Given the description of an element on the screen output the (x, y) to click on. 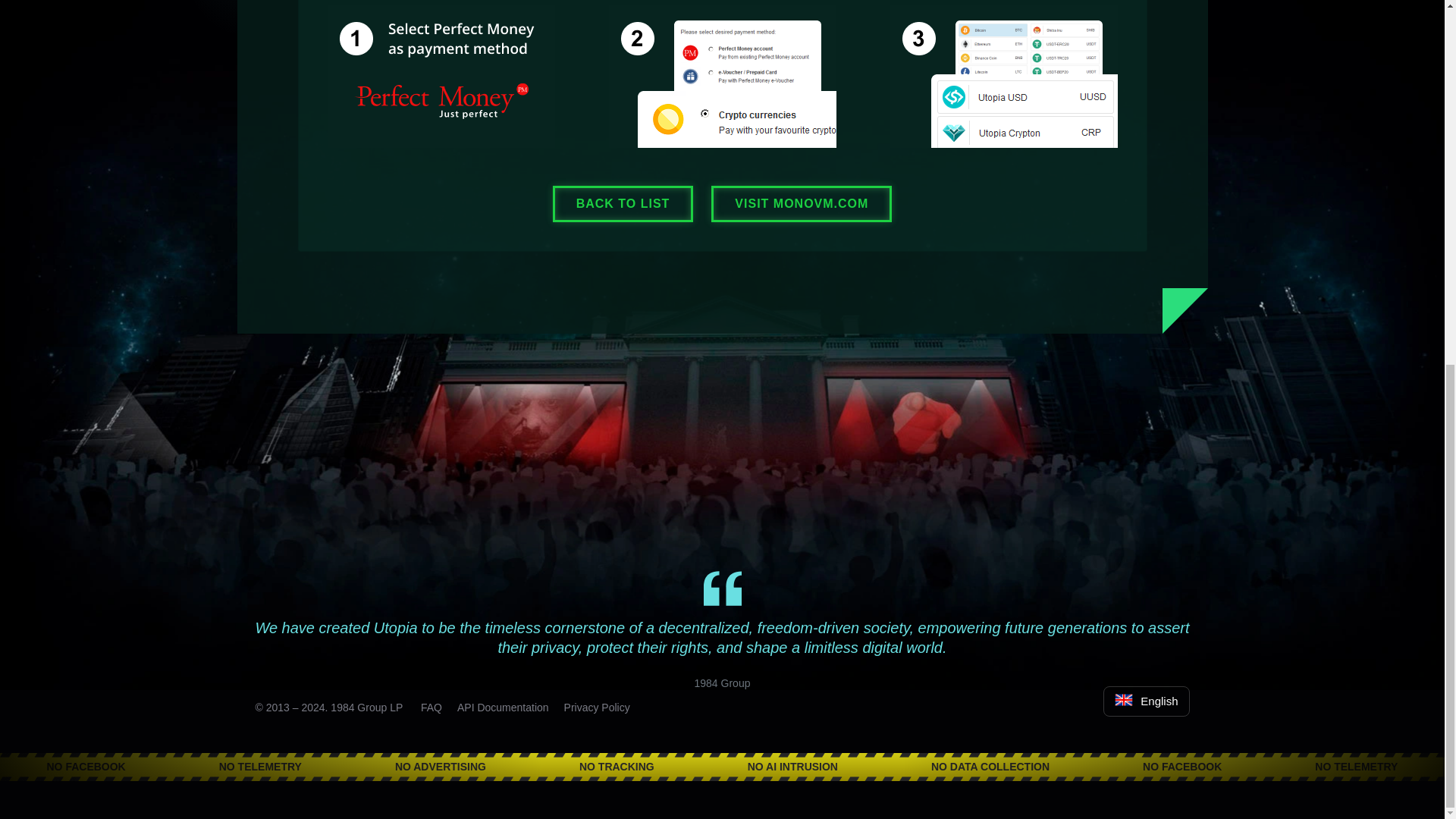
Privacy Policy (597, 707)
API Documentation (502, 707)
VISIT MONOVM.COM (801, 203)
FAQ (431, 707)
BACK TO LIST (623, 203)
English (1146, 701)
